Given the description of an element on the screen output the (x, y) to click on. 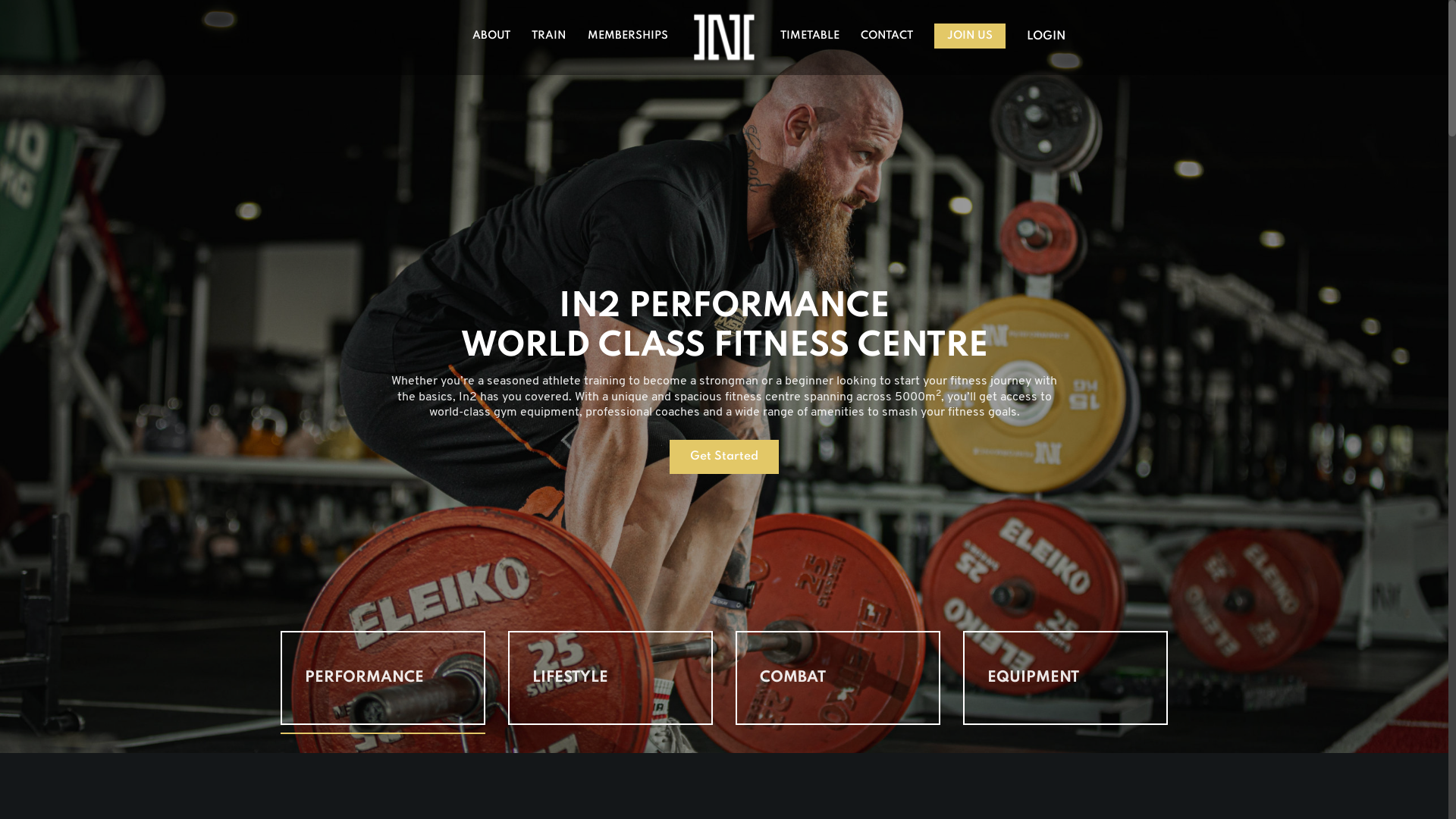
JOIN US Element type: text (969, 35)
TIMETABLE Element type: text (809, 35)
TRAIN Element type: text (548, 35)
LOGIN Element type: text (1045, 35)
CONTACT Element type: text (886, 35)
Get Started Element type: text (723, 456)
ABOUT Element type: text (491, 35)
MEMBERSHIPS Element type: text (627, 35)
